Given the description of an element on the screen output the (x, y) to click on. 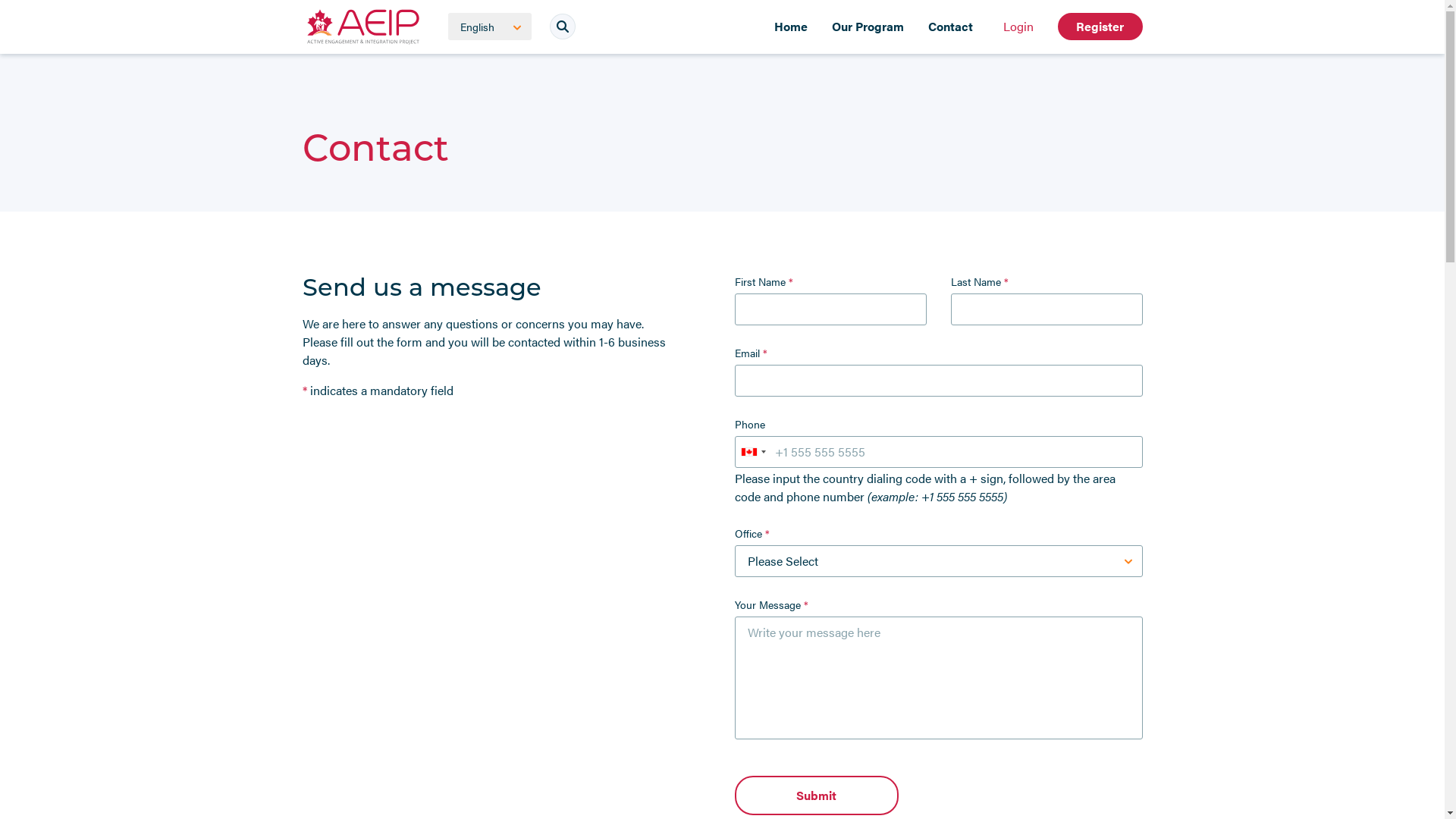
Contact Element type: text (950, 26)
Canada: +1 Element type: hover (752, 451)
Home Element type: text (789, 26)
Login Element type: text (1017, 26)
Register Element type: text (1099, 26)
Our Program Element type: text (867, 26)
Submit Element type: text (815, 795)
